Given the description of an element on the screen output the (x, y) to click on. 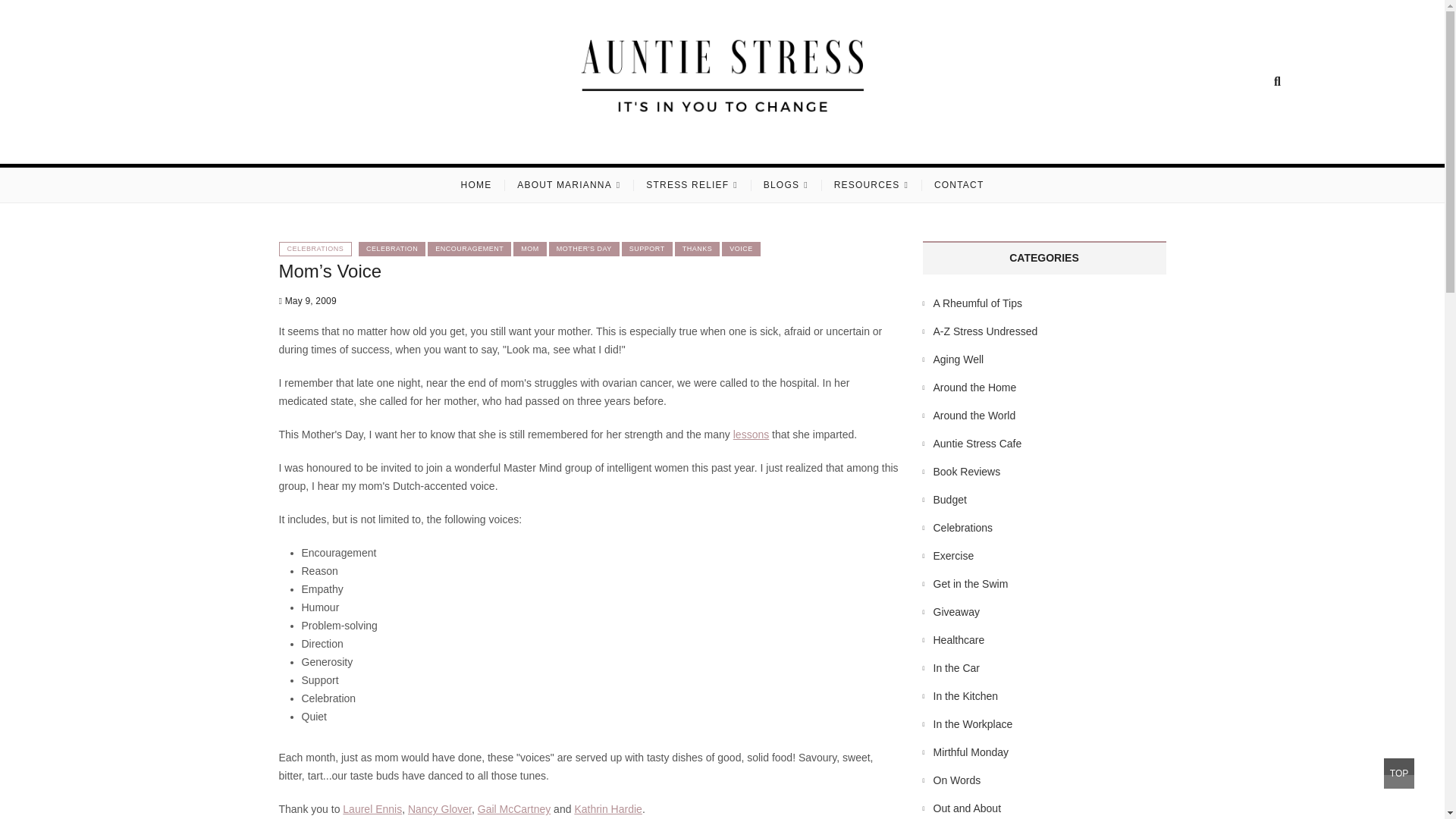
THANKS (697, 248)
SUPPORT (646, 248)
MOM (530, 248)
CONTACT (959, 185)
ABOUT MARIANNA (568, 185)
CELEBRATIONS (315, 248)
Auntie Stress (429, 143)
lessons (750, 434)
Auntie Stress (429, 143)
May 9, 2009 (307, 300)
